Given the description of an element on the screen output the (x, y) to click on. 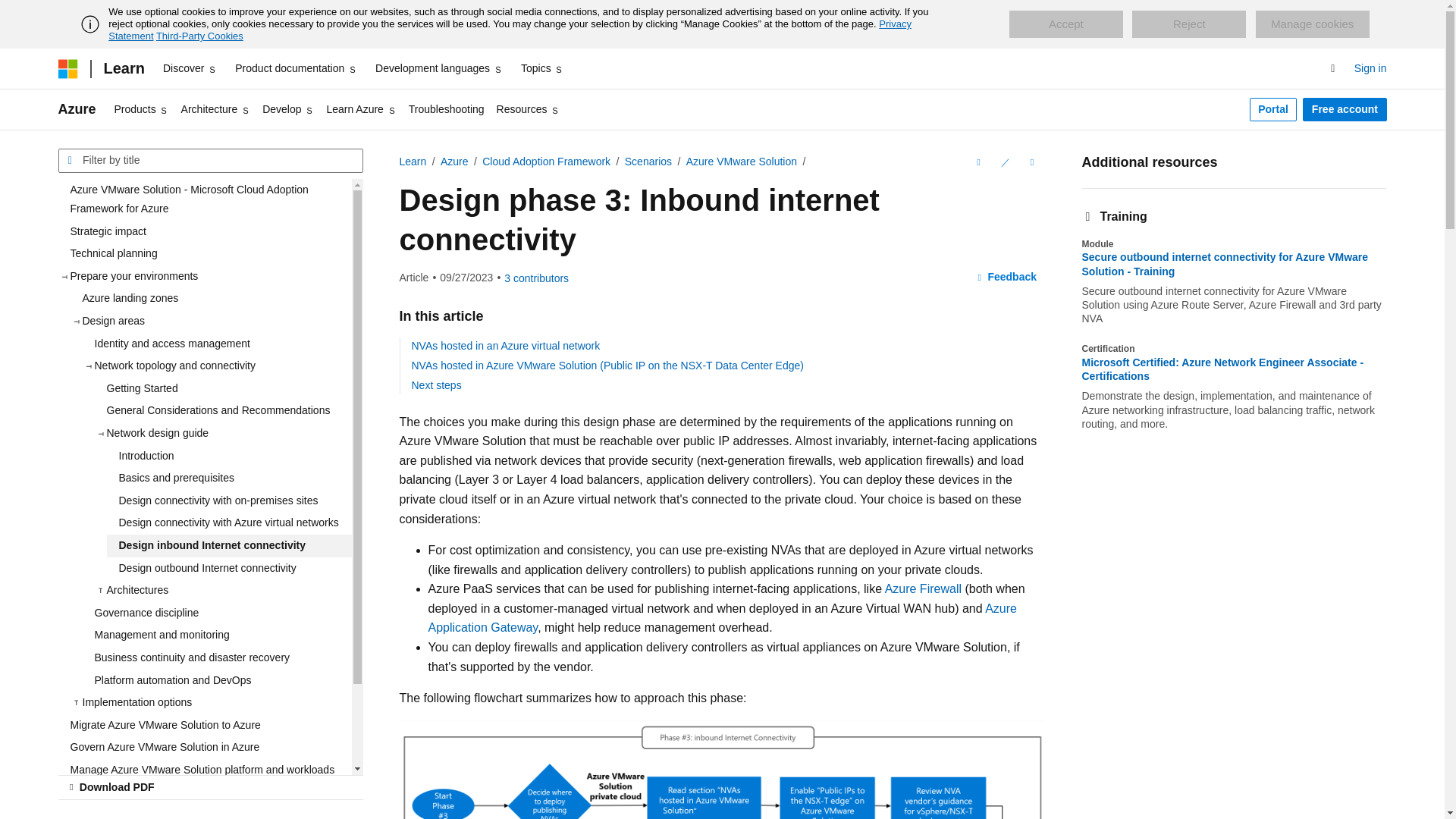
Product documentation (295, 68)
Learn (123, 68)
Azure (77, 109)
Discover (189, 68)
Topics (542, 68)
Accept (1065, 23)
Third-Party Cookies (199, 35)
Reject (1189, 23)
Development languages (438, 68)
Skip to main content (11, 11)
View all contributors (536, 277)
Products (140, 109)
Manage cookies (1312, 23)
Privacy Statement (509, 29)
Sign in (1370, 68)
